Given the description of an element on the screen output the (x, y) to click on. 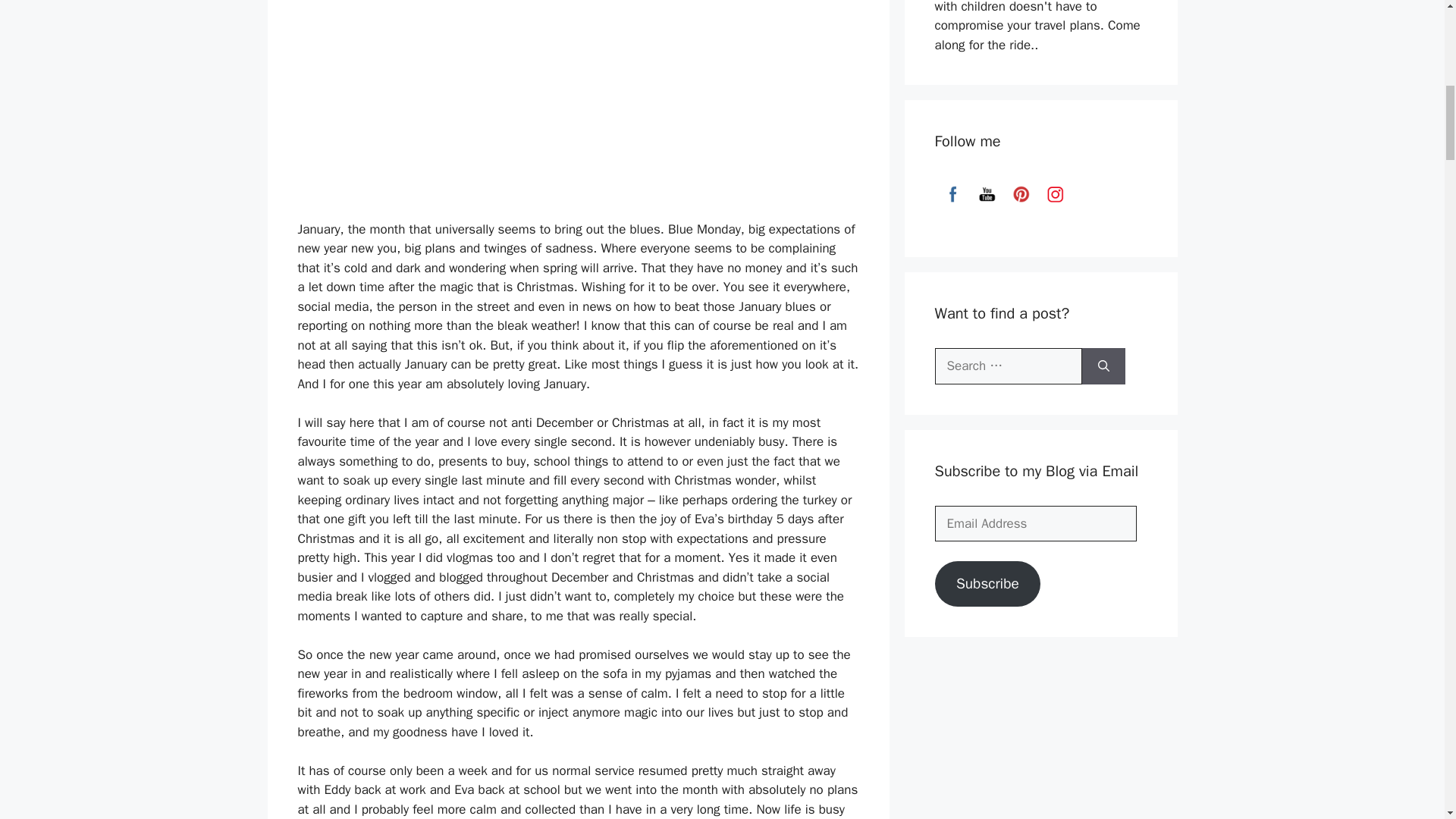
Pinterest (1020, 194)
YouTube (987, 194)
Search for: (1007, 366)
Facebook (952, 194)
Instagram (1055, 194)
